Given the description of an element on the screen output the (x, y) to click on. 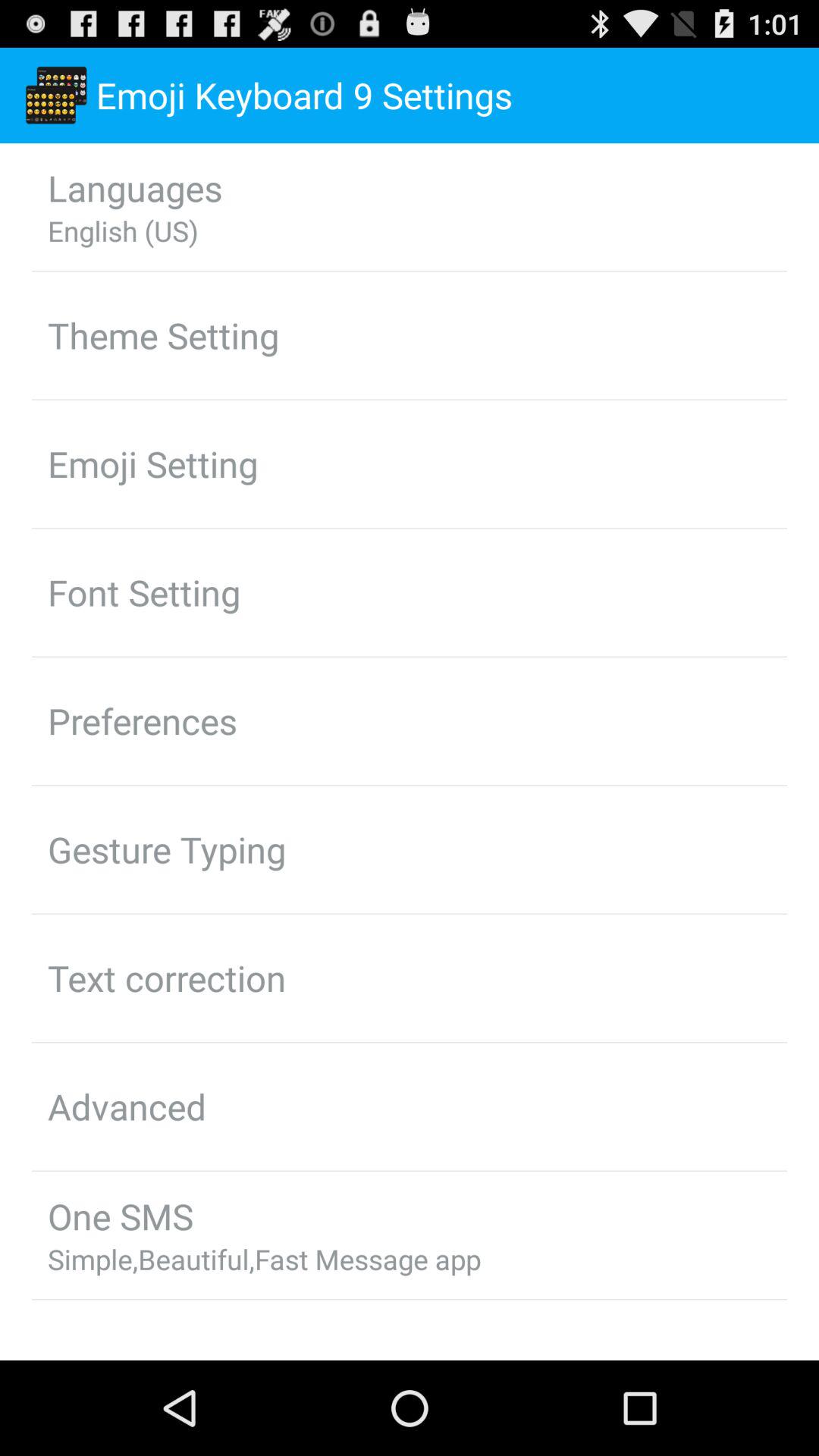
tap app above the one sms icon (126, 1106)
